Given the description of an element on the screen output the (x, y) to click on. 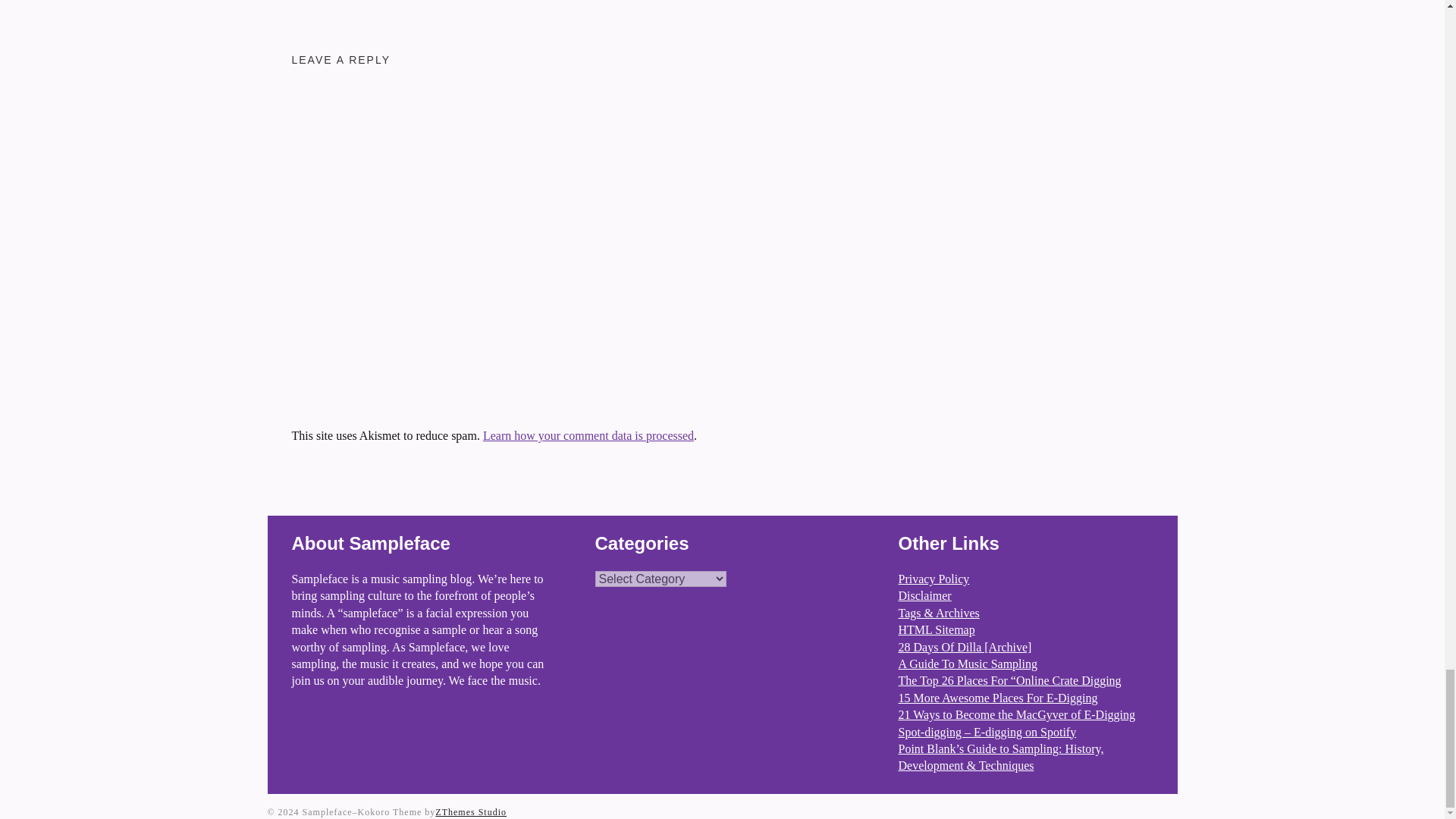
Privacy Policy (933, 578)
Disclaimer (924, 594)
HTML Sitemap (936, 629)
Learn how your comment data is processed (588, 435)
